Given the description of an element on the screen output the (x, y) to click on. 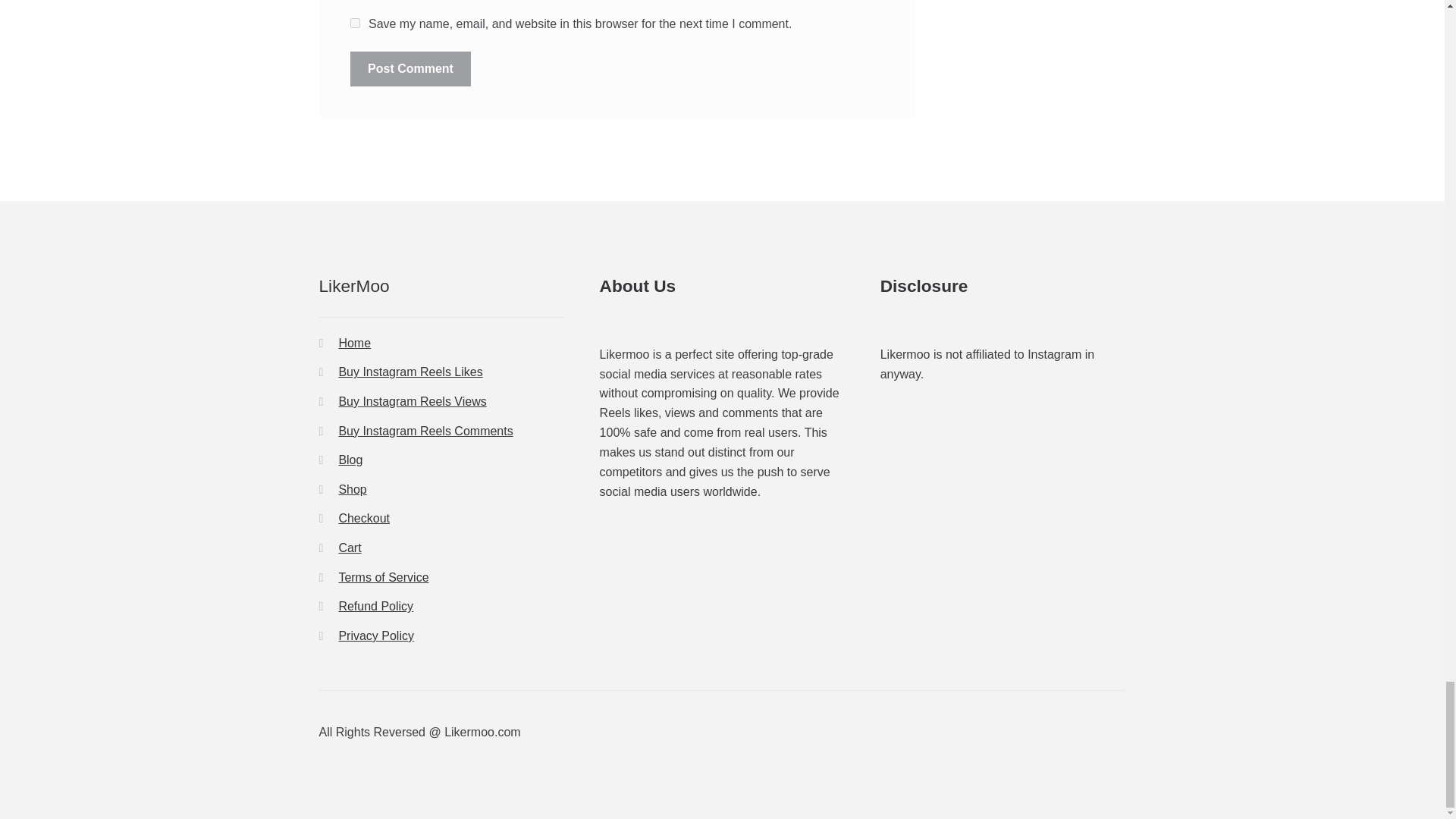
Post Comment (410, 68)
yes (354, 22)
